Given the description of an element on the screen output the (x, y) to click on. 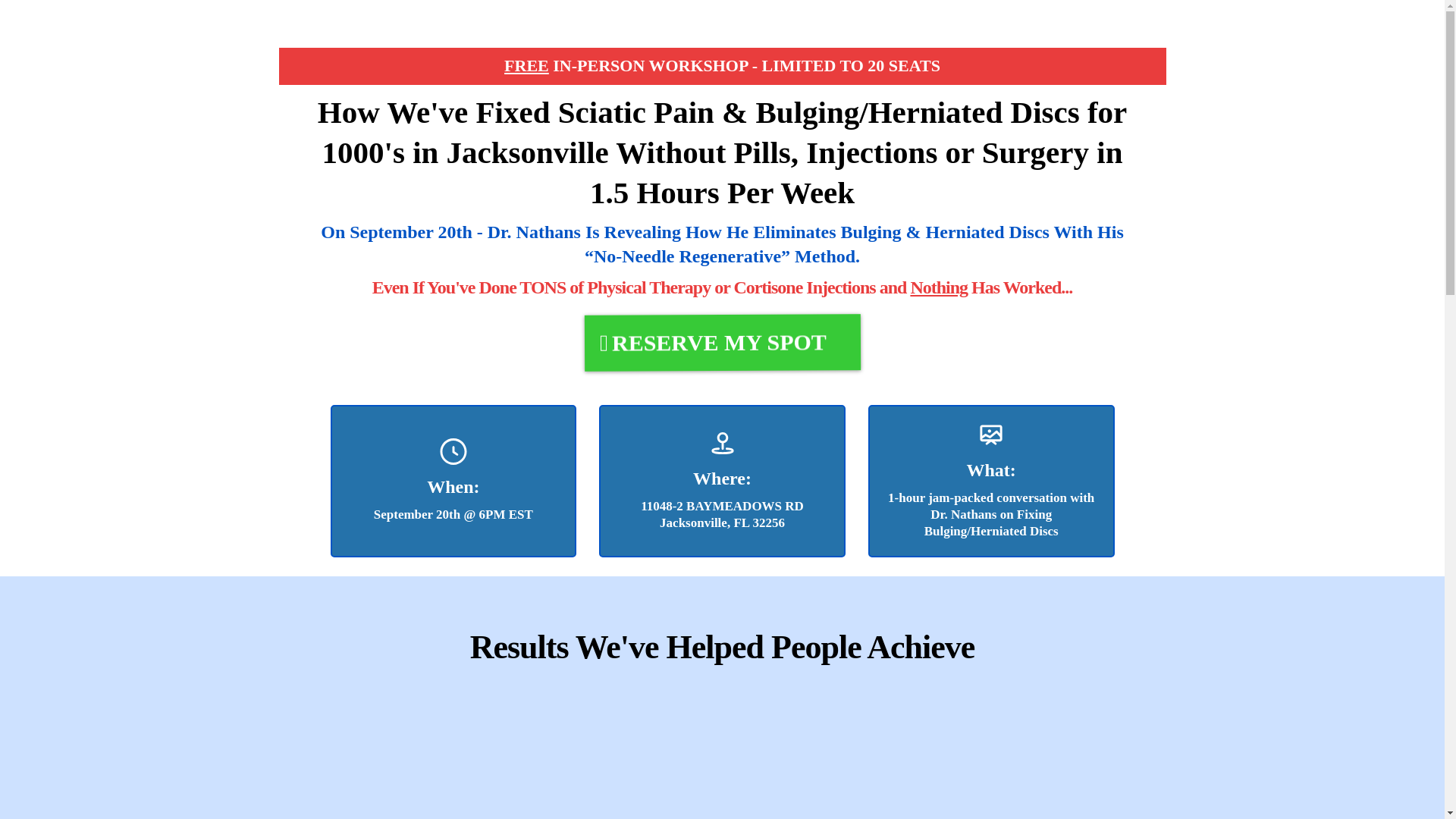
One Liners English (722, 751)
RESERVE MY SPOT (722, 342)
